Given the description of an element on the screen output the (x, y) to click on. 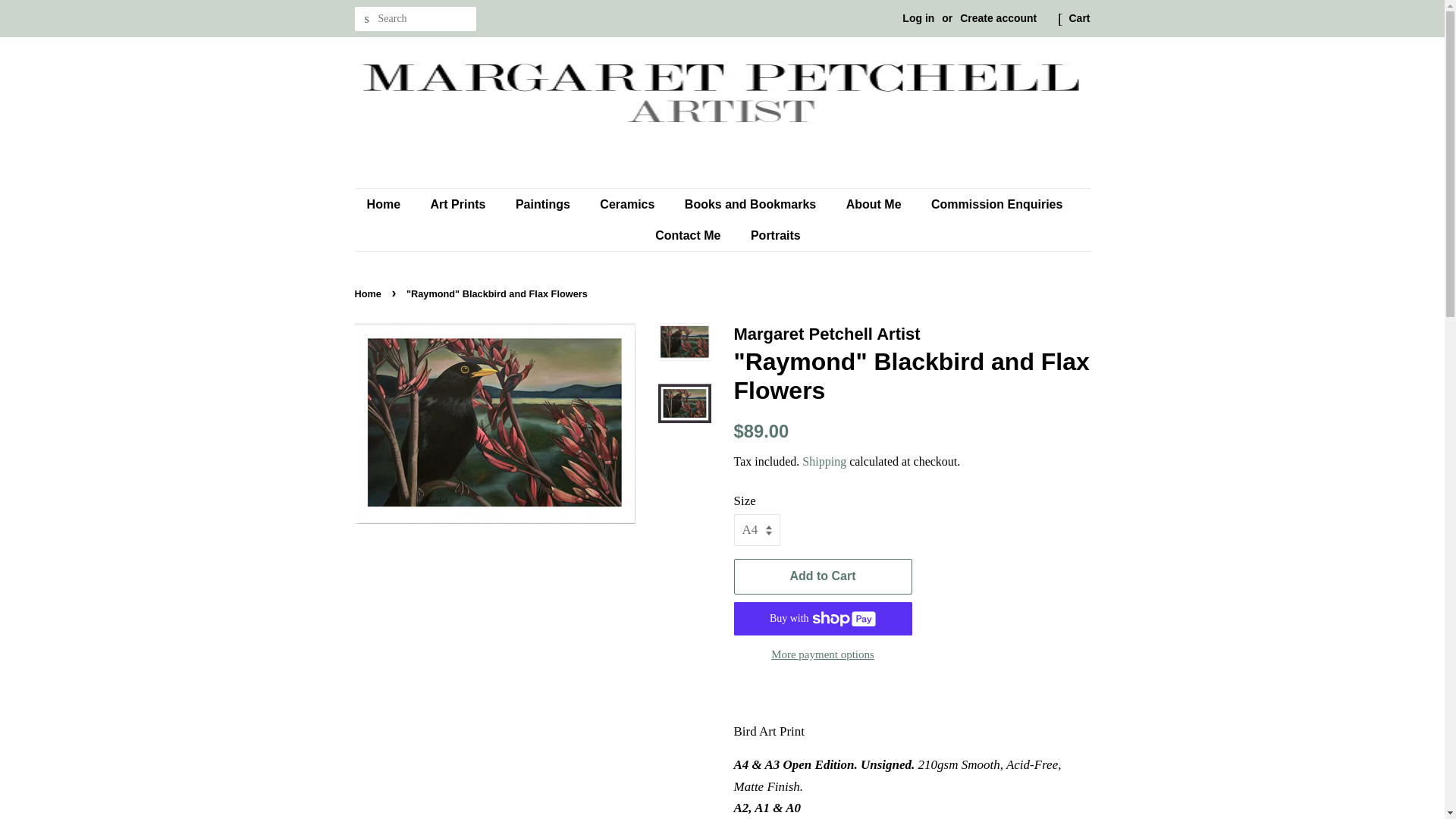
Contact Me (689, 235)
Portraits (769, 235)
Books and Bookmarks (751, 204)
Search (366, 18)
Cart (1078, 18)
Shipping (823, 461)
More payment options (822, 653)
Create account (997, 18)
Log in (918, 18)
Ceramics (628, 204)
Commission Enquiries (998, 204)
About Me (875, 204)
Back to the frontpage (370, 293)
Paintings (544, 204)
Home (390, 204)
